Given the description of an element on the screen output the (x, y) to click on. 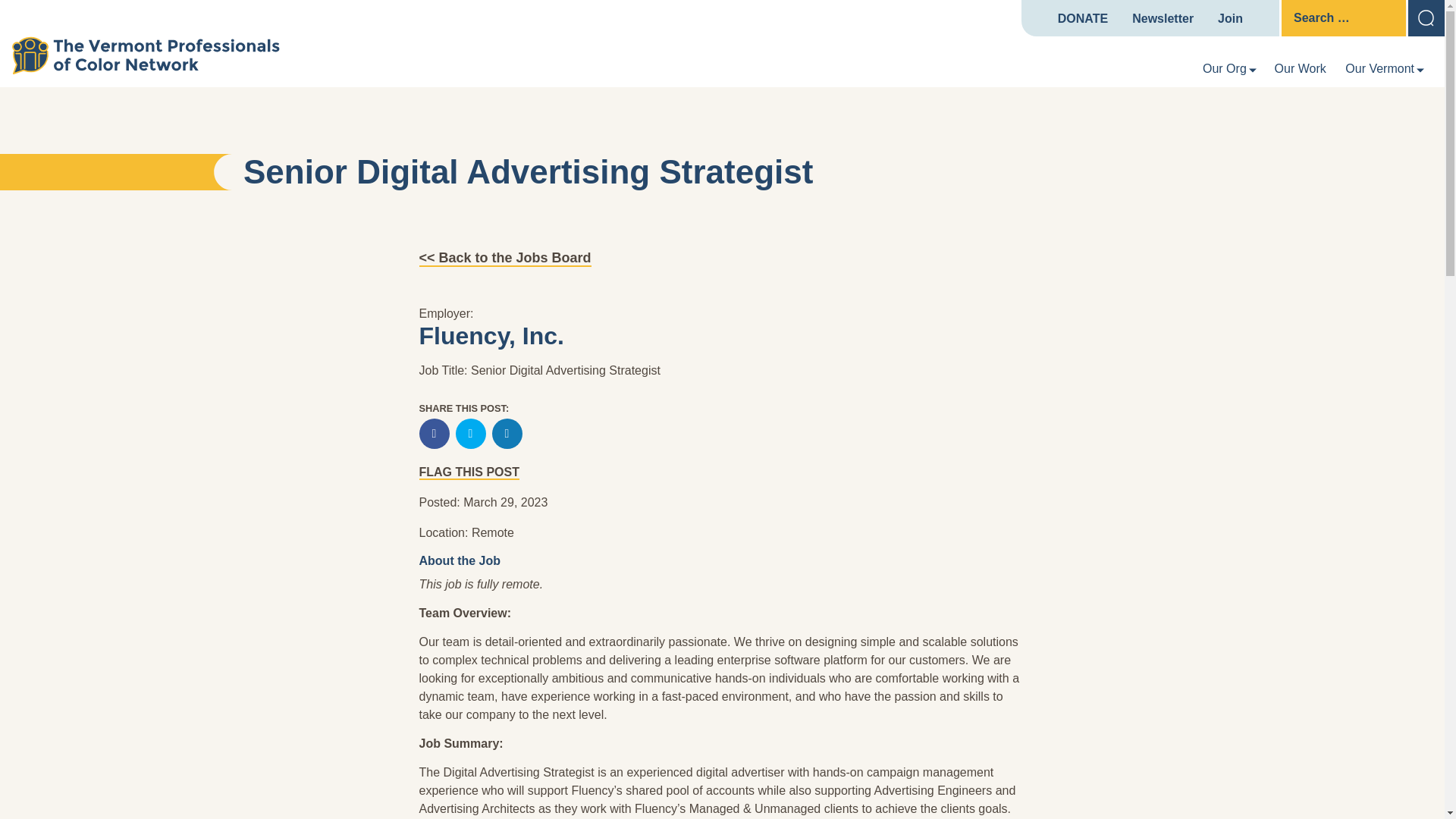
Our Vermont (1379, 68)
Join (1230, 19)
Newsletter (1162, 19)
Our Org (1224, 68)
Our Work (1300, 68)
FLAG THIS POST (468, 472)
DONATE (1083, 19)
